Given the description of an element on the screen output the (x, y) to click on. 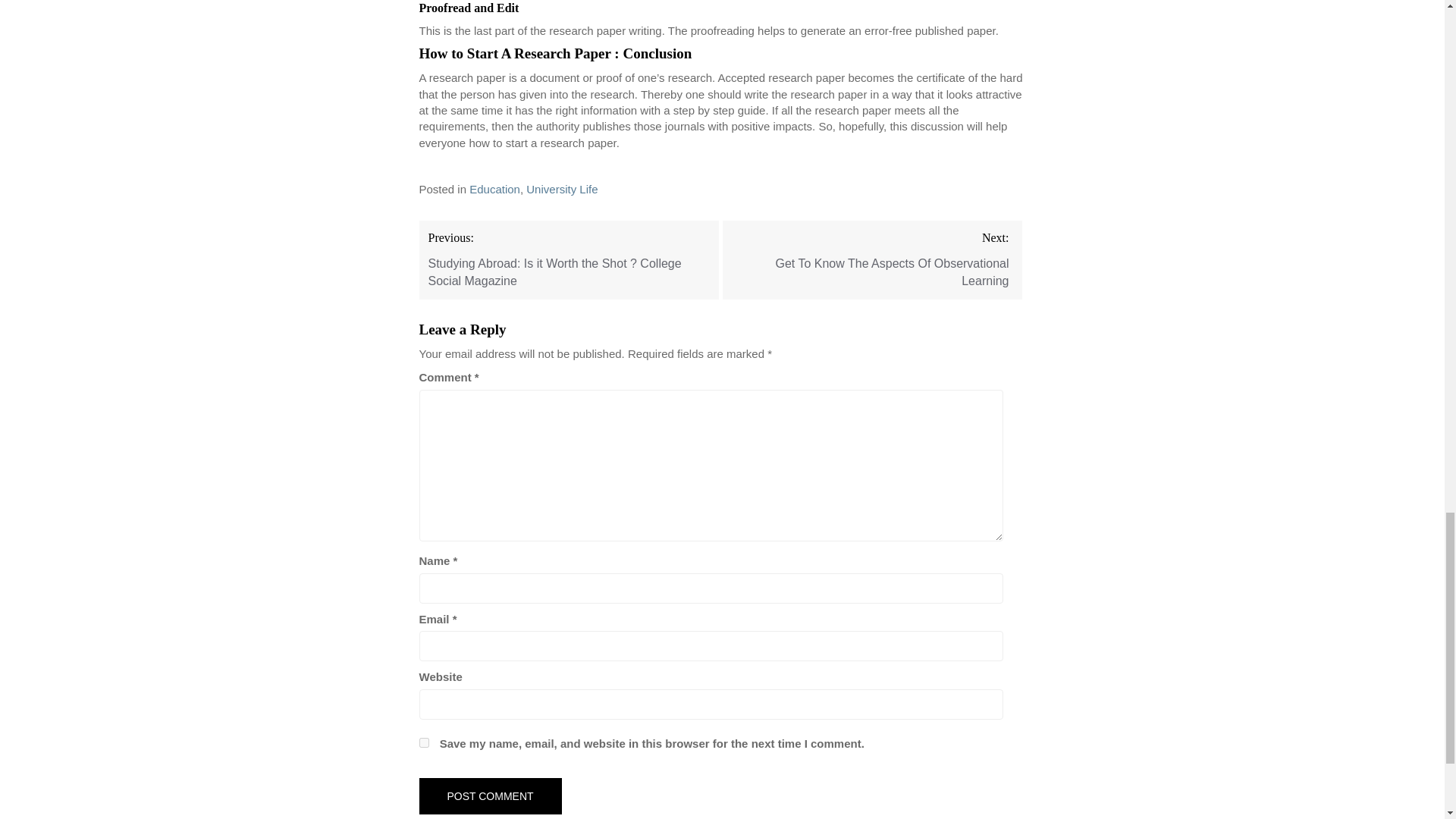
University Life (560, 188)
yes (423, 742)
Education (493, 188)
Next: Get To Know The Aspects Of Observational Learning (872, 260)
Post Comment (489, 796)
Post Comment (489, 796)
